Given the description of an element on the screen output the (x, y) to click on. 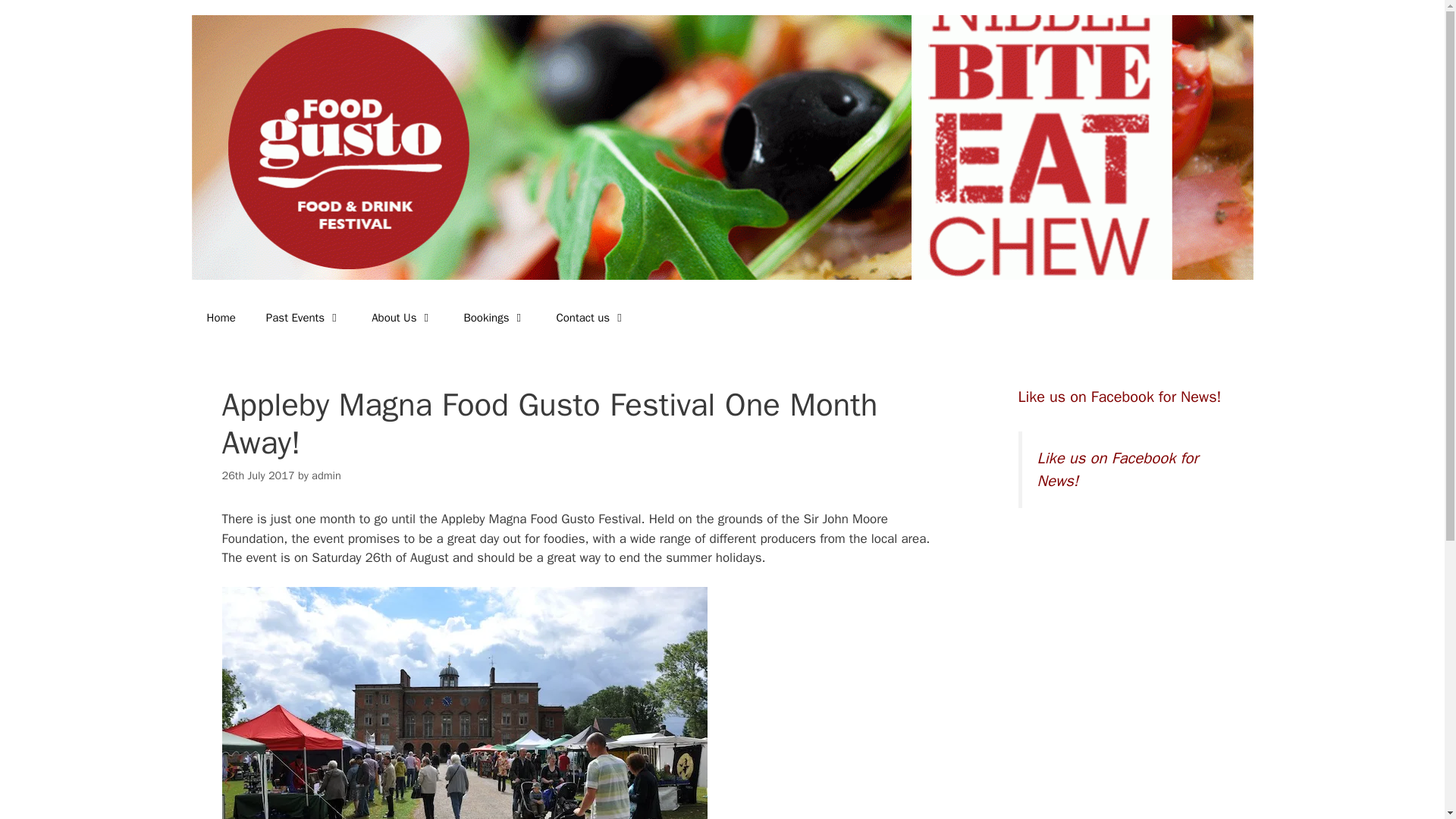
About Us (402, 317)
View all posts by admin (325, 475)
Bookings (494, 317)
Home (220, 317)
Contact us (591, 317)
Past Events (303, 317)
admin (325, 475)
